Given the description of an element on the screen output the (x, y) to click on. 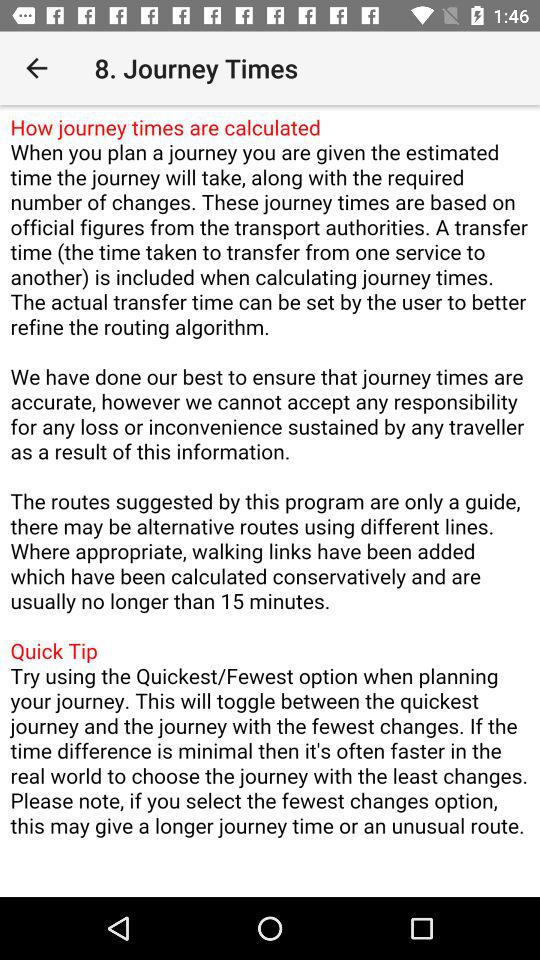
turn off the icon to the left of 8. journey times (36, 68)
